Given the description of an element on the screen output the (x, y) to click on. 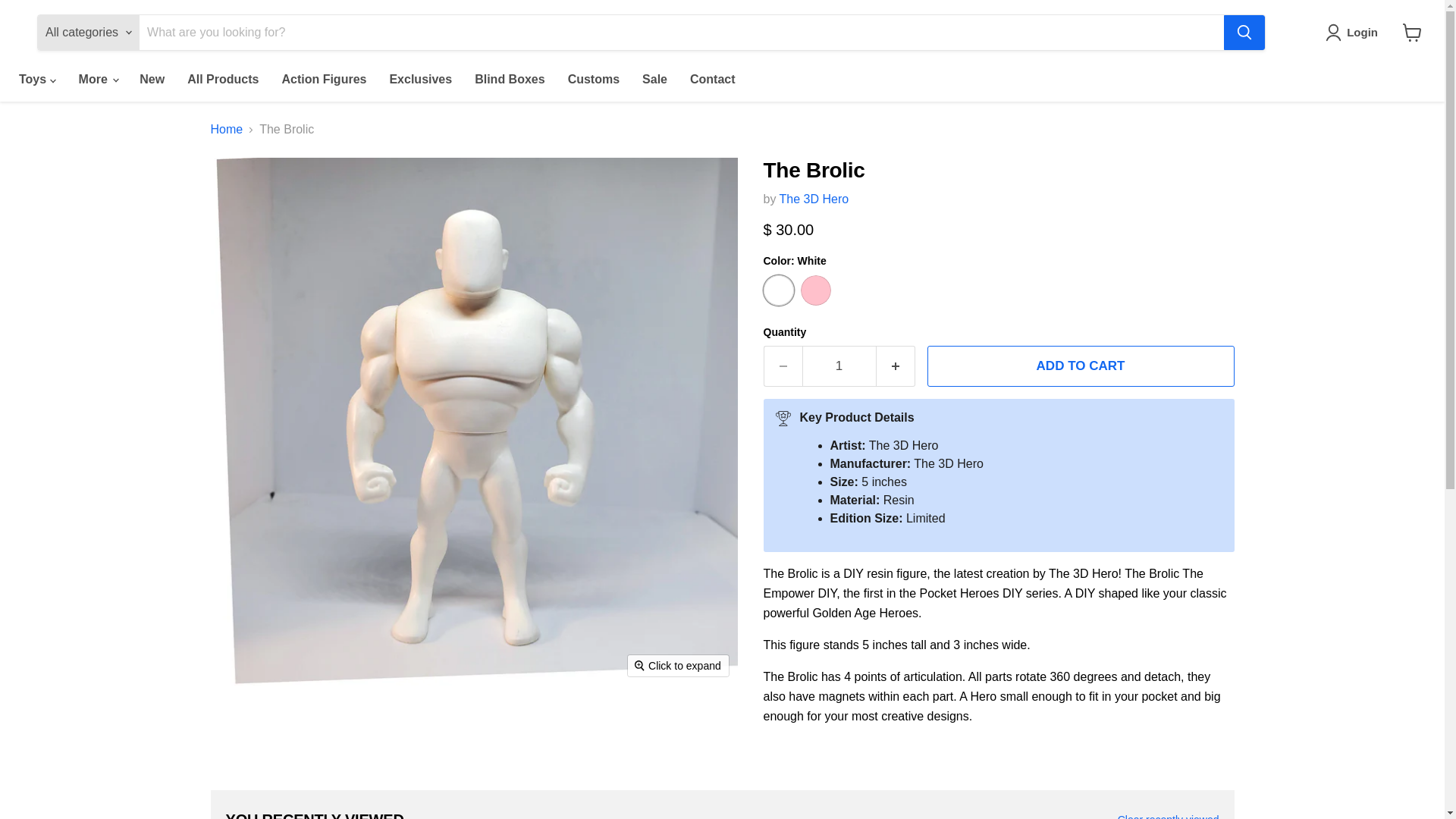
Login (1354, 32)
1 (839, 365)
View cart (1411, 32)
The 3D Hero (813, 198)
